Given the description of an element on the screen output the (x, y) to click on. 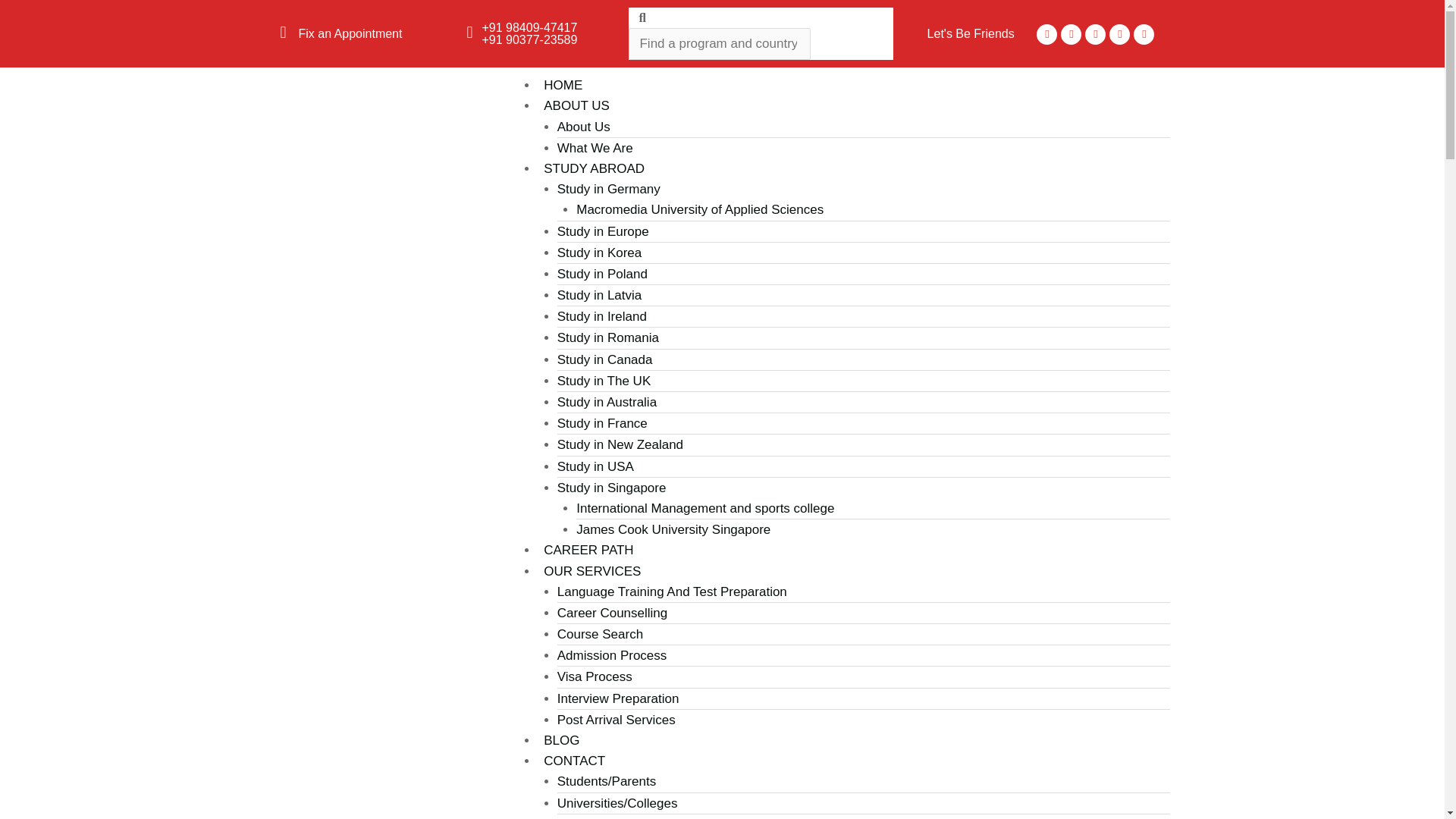
OUR SERVICES (591, 570)
Visa Process (594, 676)
Admission Process (611, 655)
Instagram (1119, 34)
Study in Australia (606, 401)
Macromedia University of Applied Sciences (700, 209)
Linkedin (1144, 34)
Study in Romania (608, 337)
Facebook (1046, 34)
STUDY ABROAD (593, 168)
What We Are (595, 147)
Study in Poland (602, 273)
About Us (583, 126)
Youtube (1094, 34)
Career Counselling (612, 612)
